Given the description of an element on the screen output the (x, y) to click on. 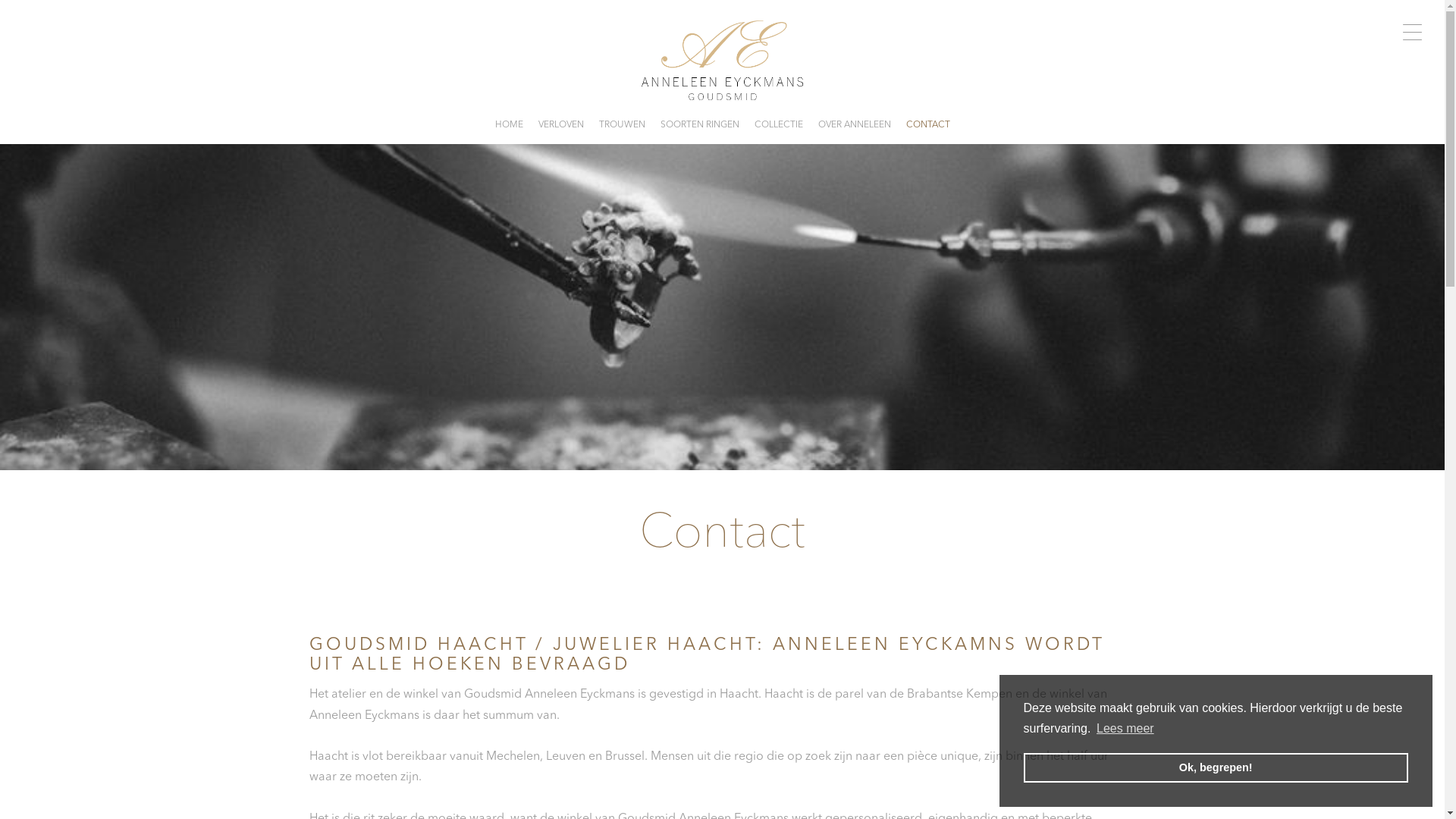
OVER ANNELEEN Element type: text (853, 124)
TROUWEN Element type: text (621, 124)
Verzenden Element type: text (11, 11)
CONTACT Element type: text (927, 124)
TOGGLE MENU Element type: text (1412, 31)
Ok, begrepen! Element type: text (1215, 767)
Lees meer Element type: text (1125, 728)
SOORTEN RINGEN Element type: text (699, 124)
COLLECTIE Element type: text (777, 124)
HOME Element type: text (508, 124)
VERLOVEN Element type: text (560, 124)
